Given the description of an element on the screen output the (x, y) to click on. 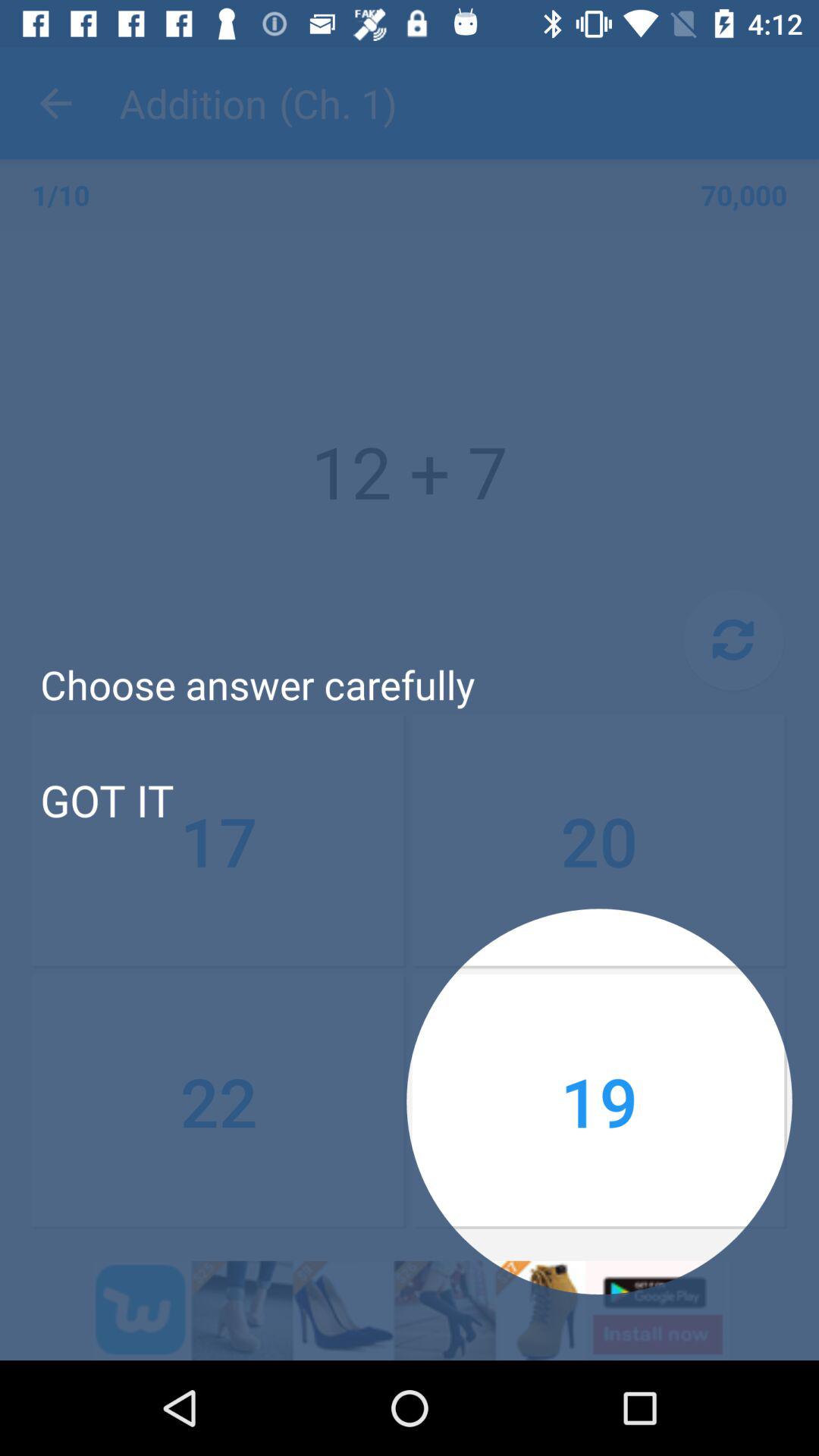
swipe to the 17 (218, 840)
